Given the description of an element on the screen output the (x, y) to click on. 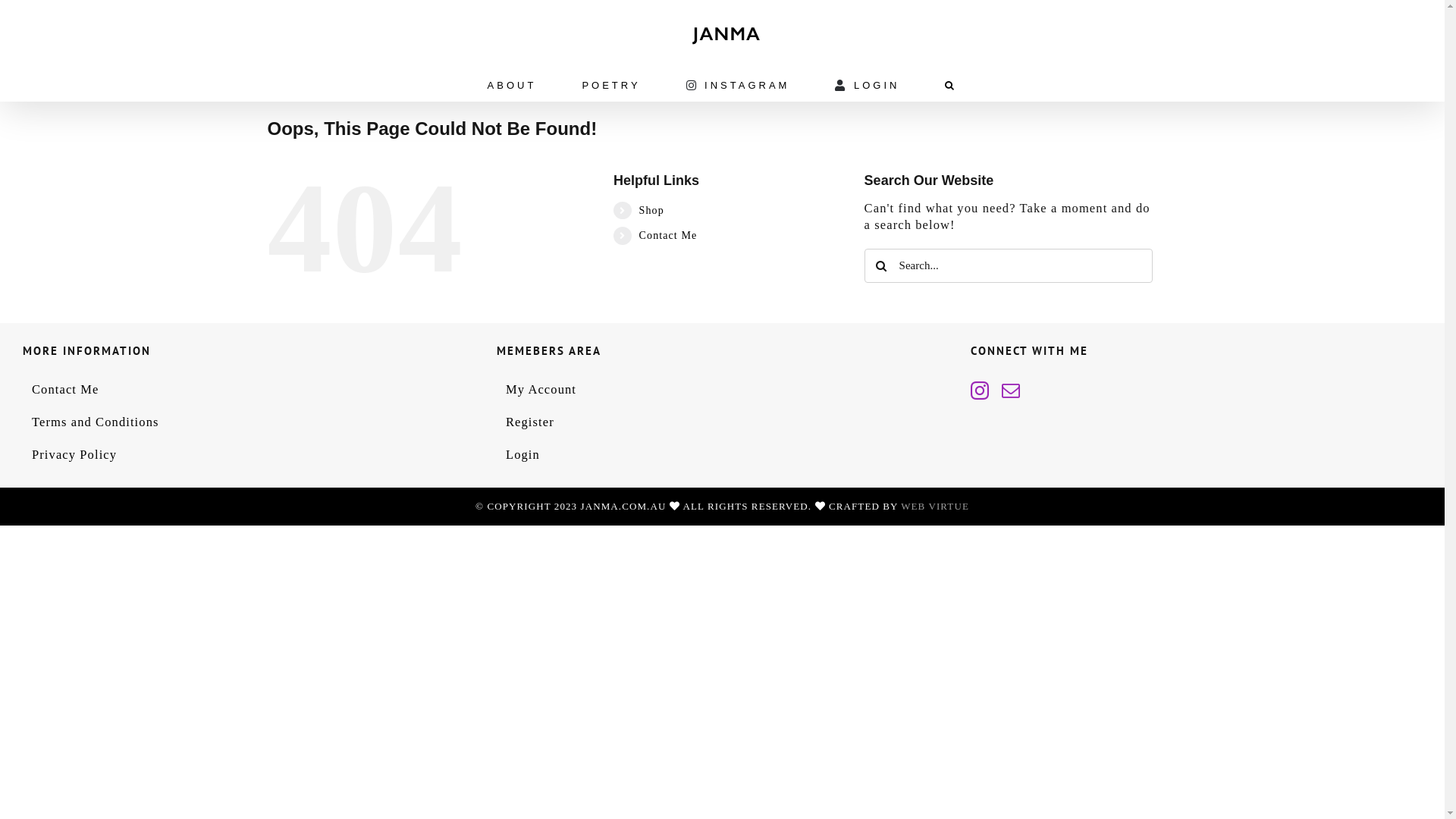
Register Element type: text (722, 422)
Search Element type: hover (950, 84)
Contact Me Element type: text (248, 389)
Shop Element type: text (651, 210)
Terms and Conditions Element type: text (248, 422)
LOGIN Element type: text (867, 84)
INSTAGRAM Element type: text (737, 84)
WEB VIRTUE Element type: text (934, 505)
Login Element type: text (722, 454)
My Account Element type: text (722, 389)
Contact Me Element type: text (668, 235)
ABOUT Element type: text (511, 84)
POETRY Element type: text (610, 84)
Privacy Policy Element type: text (248, 454)
